Given the description of an element on the screen output the (x, y) to click on. 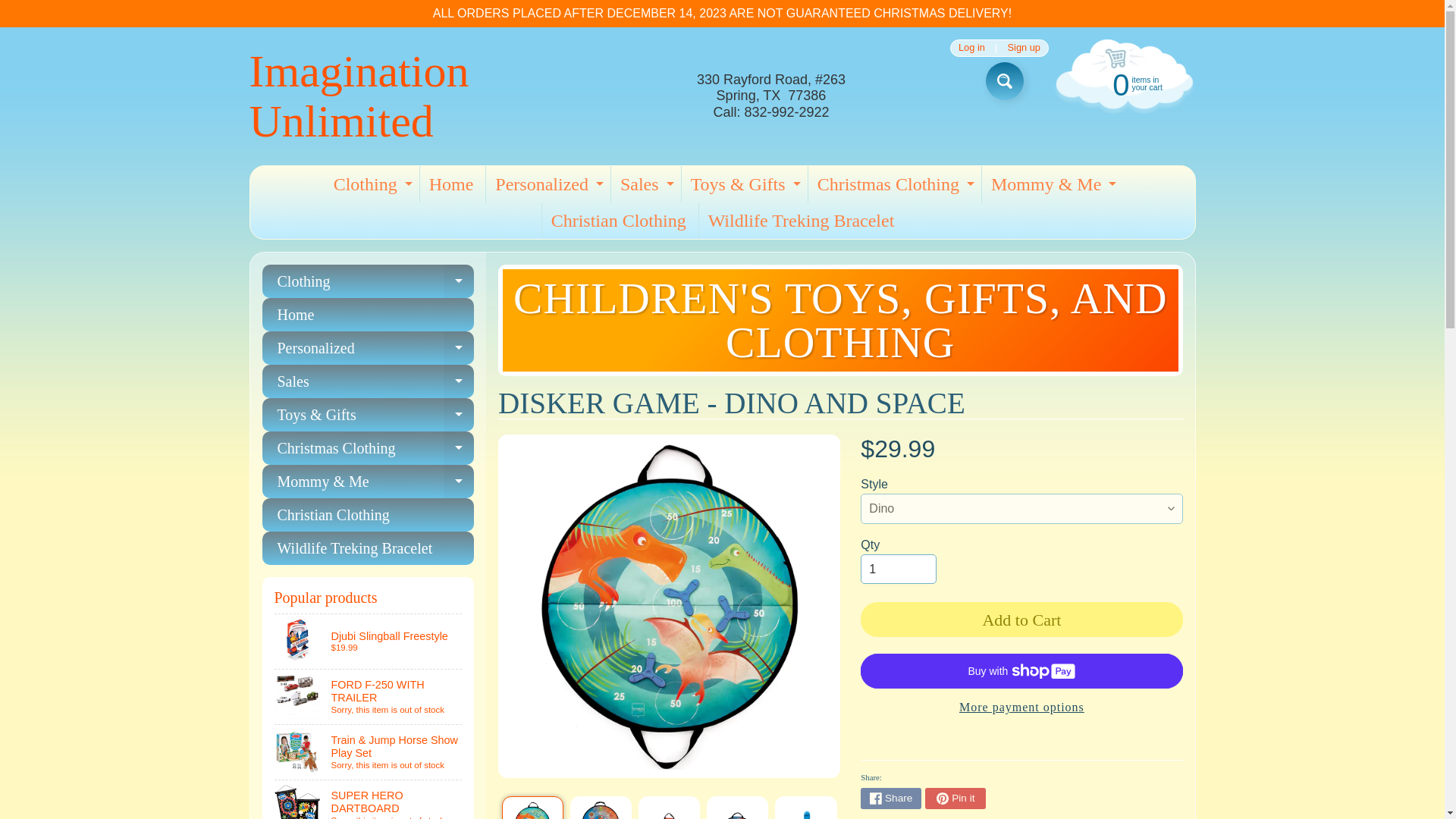
Log in (970, 48)
Imagination Unlimited (422, 96)
1 (1122, 83)
Sign up (898, 569)
Home (644, 184)
DISKER GAME - DINO AND SPACE (1024, 48)
Djubi Slingball Freestyle (451, 184)
Imagination Unlimited (600, 807)
